Given the description of an element on the screen output the (x, y) to click on. 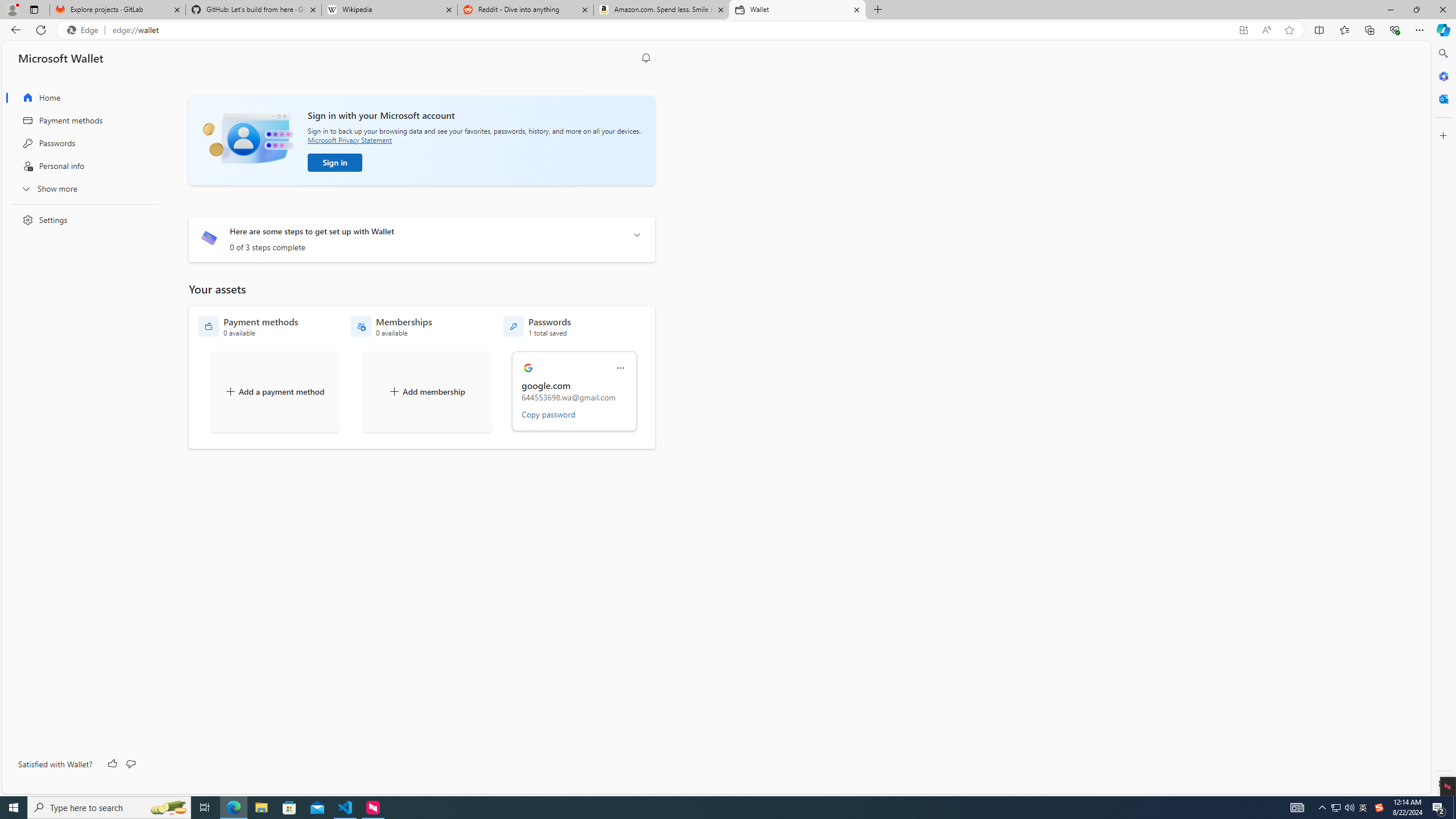
Home (81, 97)
Wikipedia (390, 9)
More actions (619, 368)
Payment methods (81, 120)
Add a payment method (274, 391)
Personal info (81, 165)
Memberships - 0 available (391, 326)
Sign in (334, 162)
Close Outlook pane (1442, 98)
